Given the description of an element on the screen output the (x, y) to click on. 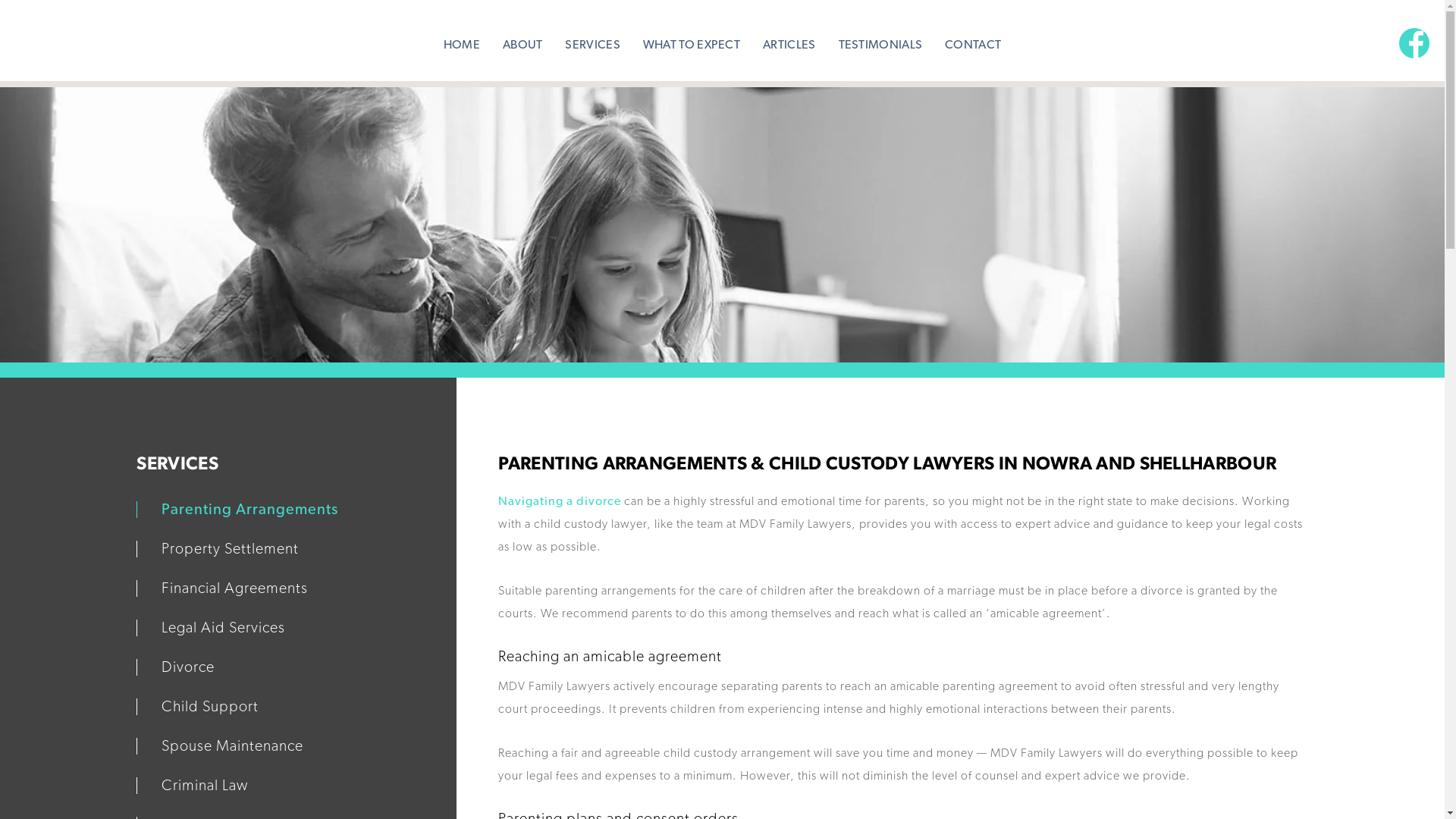
ABOUT Element type: text (522, 37)
ARTICLES Element type: text (788, 37)
Spouse Maintenance Element type: text (219, 745)
Navigating a divorce Element type: text (559, 500)
Financial Agreements Element type: text (221, 588)
Child Support Element type: text (197, 706)
HOME Element type: text (461, 37)
Property Settlement Element type: text (217, 548)
Divorce Element type: text (175, 666)
Criminal Law Element type: text (191, 785)
CONTACT Element type: text (972, 37)
Parenting Arrangements Element type: text (237, 509)
TESTIMONIALS Element type: text (879, 37)
WHAT TO EXPECT Element type: text (691, 37)
Legal Aid Services Element type: text (210, 627)
SERVICES Element type: text (591, 37)
